Given the description of an element on the screen output the (x, y) to click on. 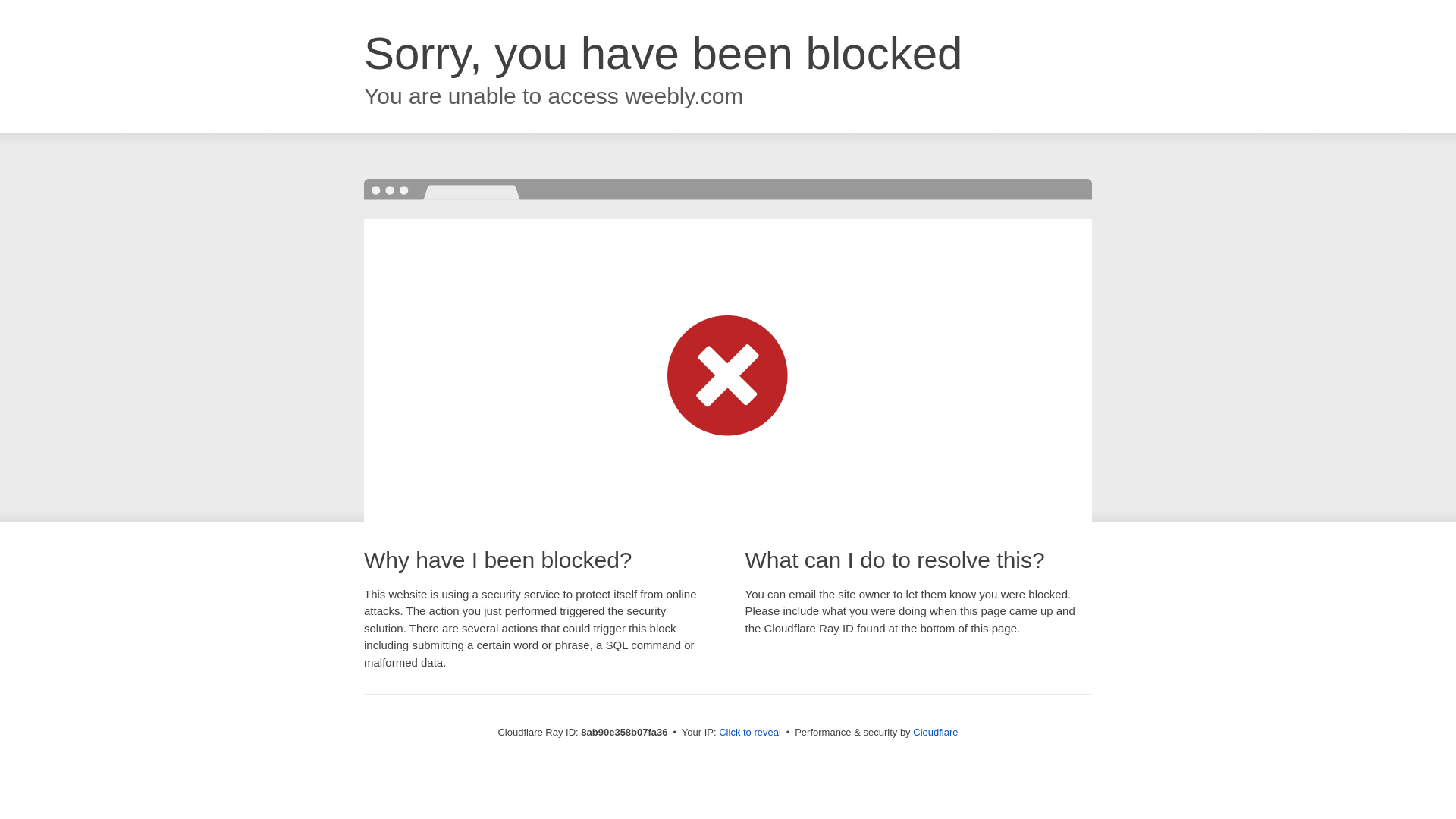
Cloudflare (935, 731)
Click to reveal (749, 732)
